Given the description of an element on the screen output the (x, y) to click on. 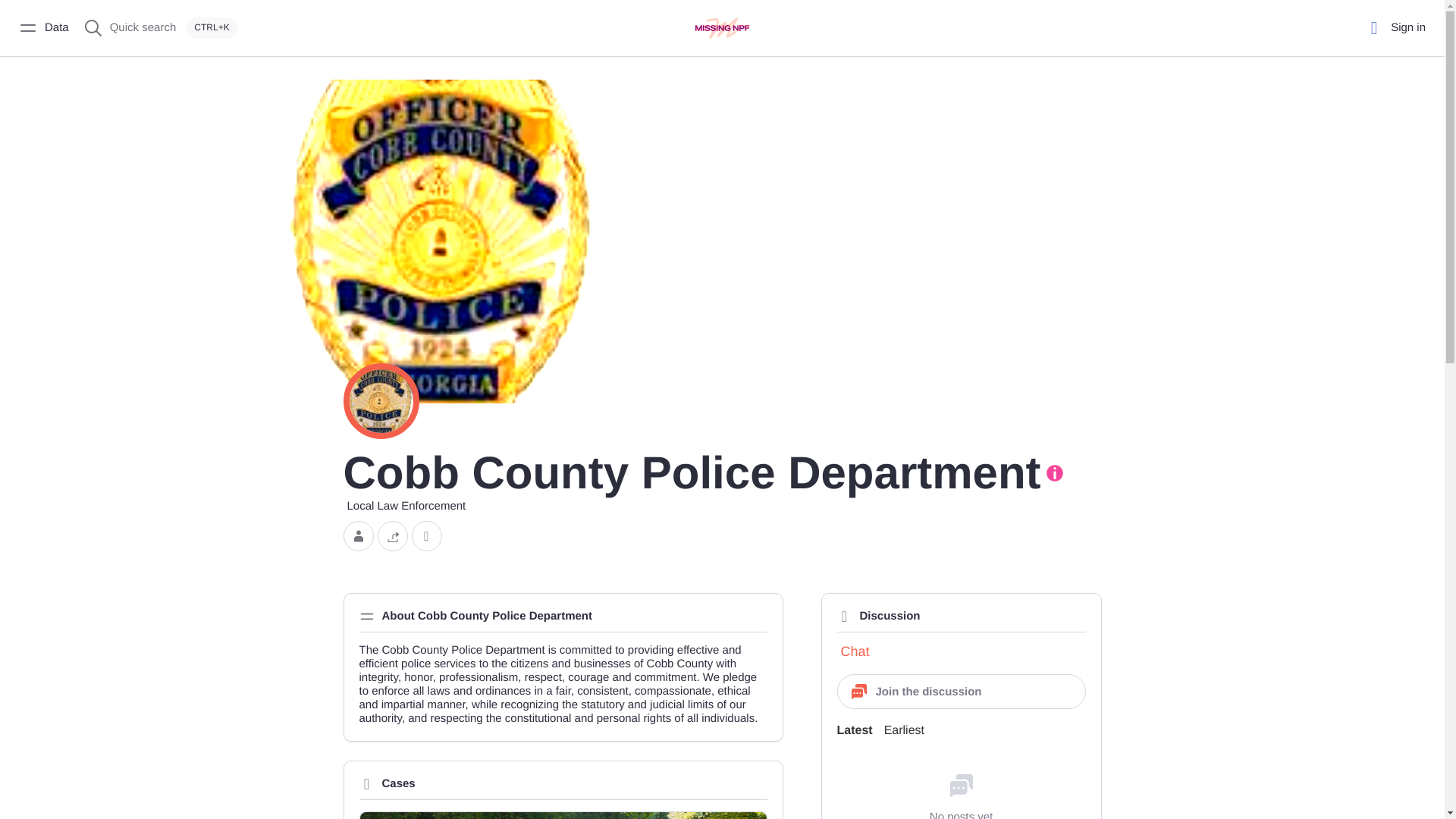
Join the discussion (961, 691)
Latest (854, 730)
Data (43, 27)
Chat (853, 651)
Sign in (1393, 27)
Earliest (903, 730)
